Given the description of an element on the screen output the (x, y) to click on. 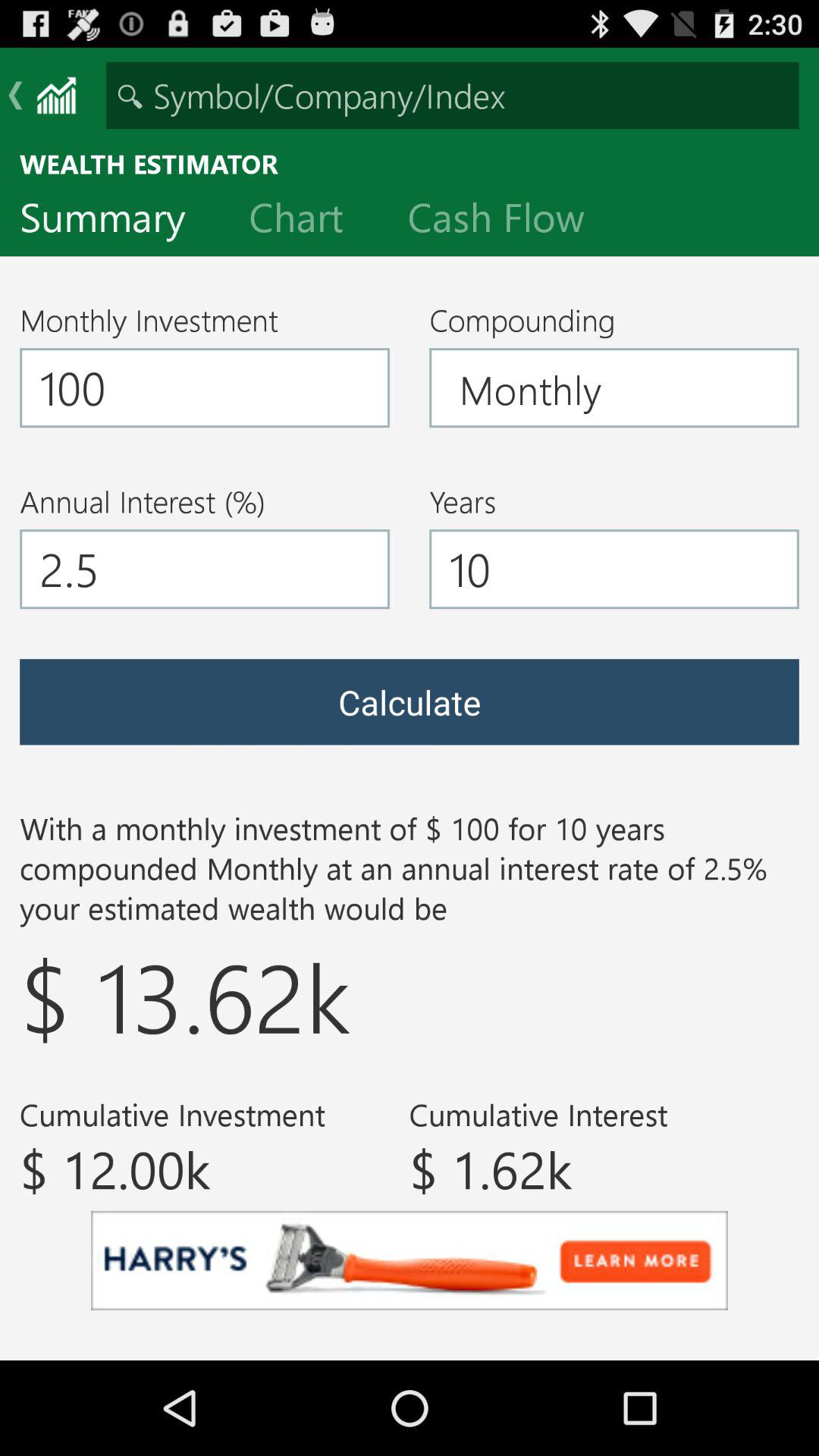
tap the cash flow item (507, 220)
